Given the description of an element on the screen output the (x, y) to click on. 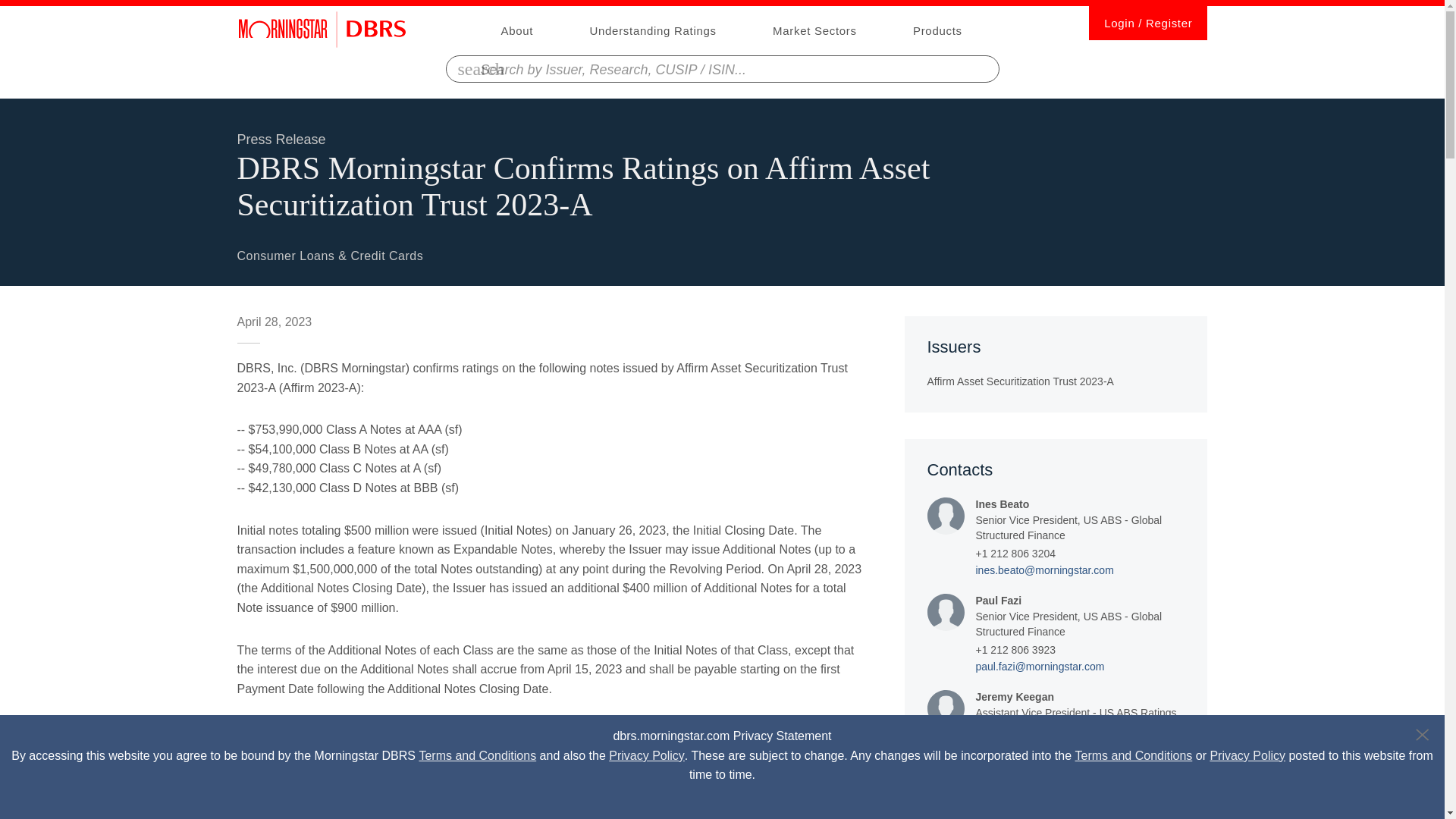
Products (937, 30)
Issuers (1055, 364)
Market Sectors (815, 30)
About (516, 30)
Understanding Ratings (652, 30)
